Given the description of an element on the screen output the (x, y) to click on. 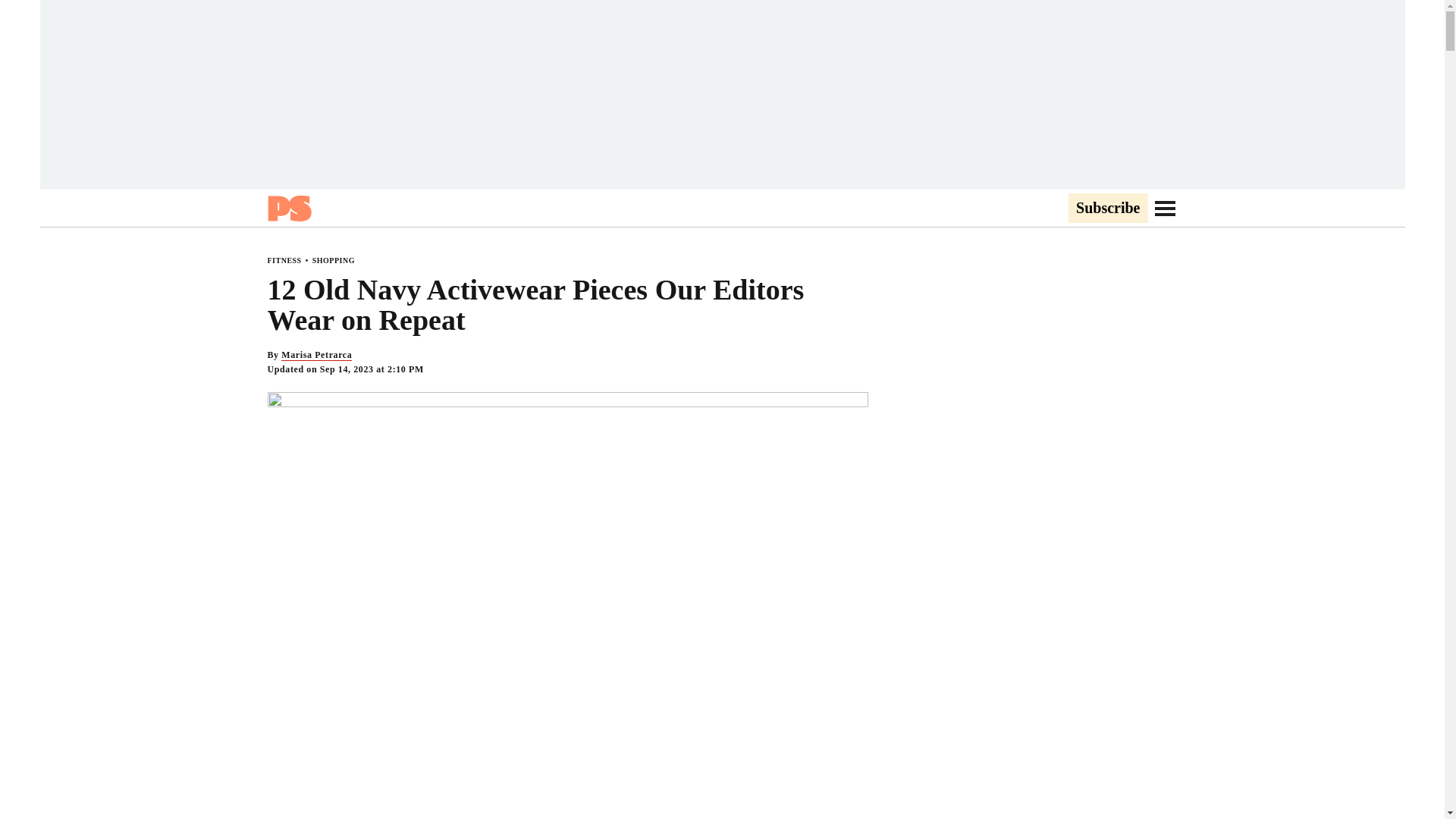
Popsugar (288, 208)
Go to Navigation (1164, 207)
Marisa Petrarca (316, 355)
FITNESS (283, 260)
Go to Navigation (1164, 207)
SHOPPING (334, 260)
Subscribe (1107, 208)
